Given the description of an element on the screen output the (x, y) to click on. 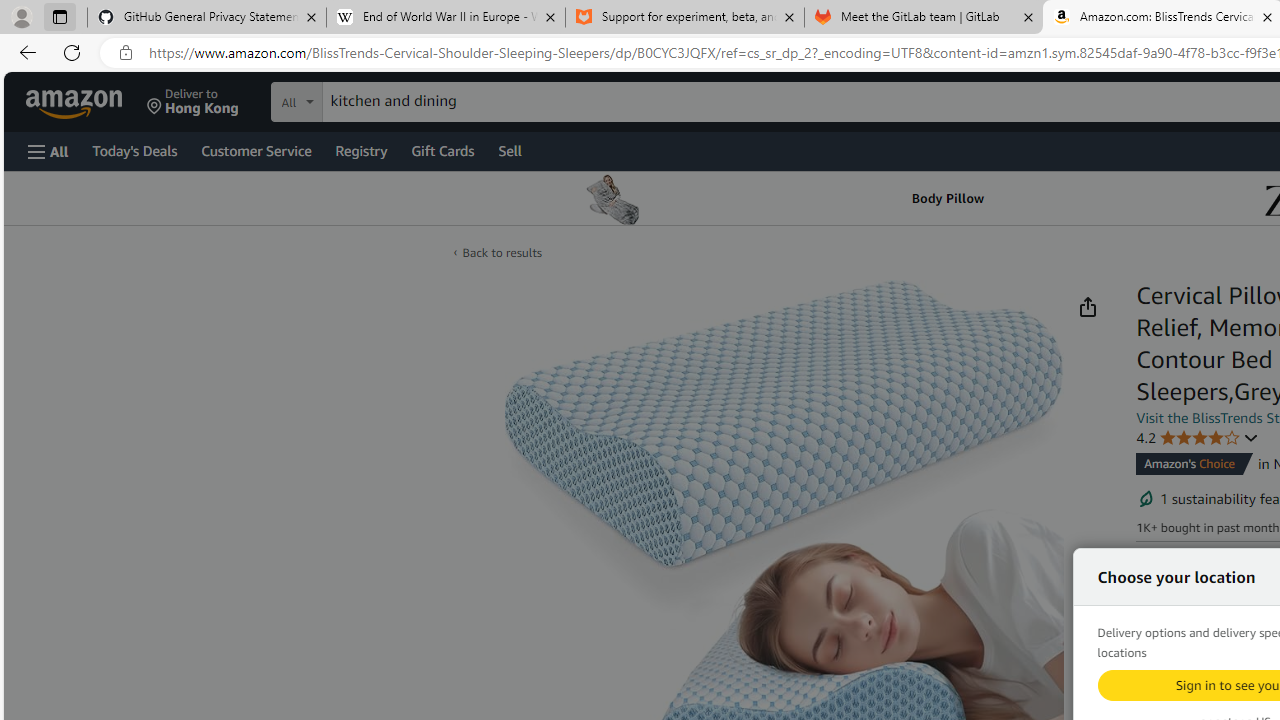
Skip to main content (86, 100)
4.2 4.2 out of 5 stars (1197, 437)
End of World War II in Europe - Wikipedia (445, 17)
Back to results (501, 252)
Amazon (76, 101)
Gift Cards (442, 150)
Open Menu (48, 151)
Registry (360, 150)
Apply 20% coupon Shop items | Terms (1225, 681)
